Given the description of an element on the screen output the (x, y) to click on. 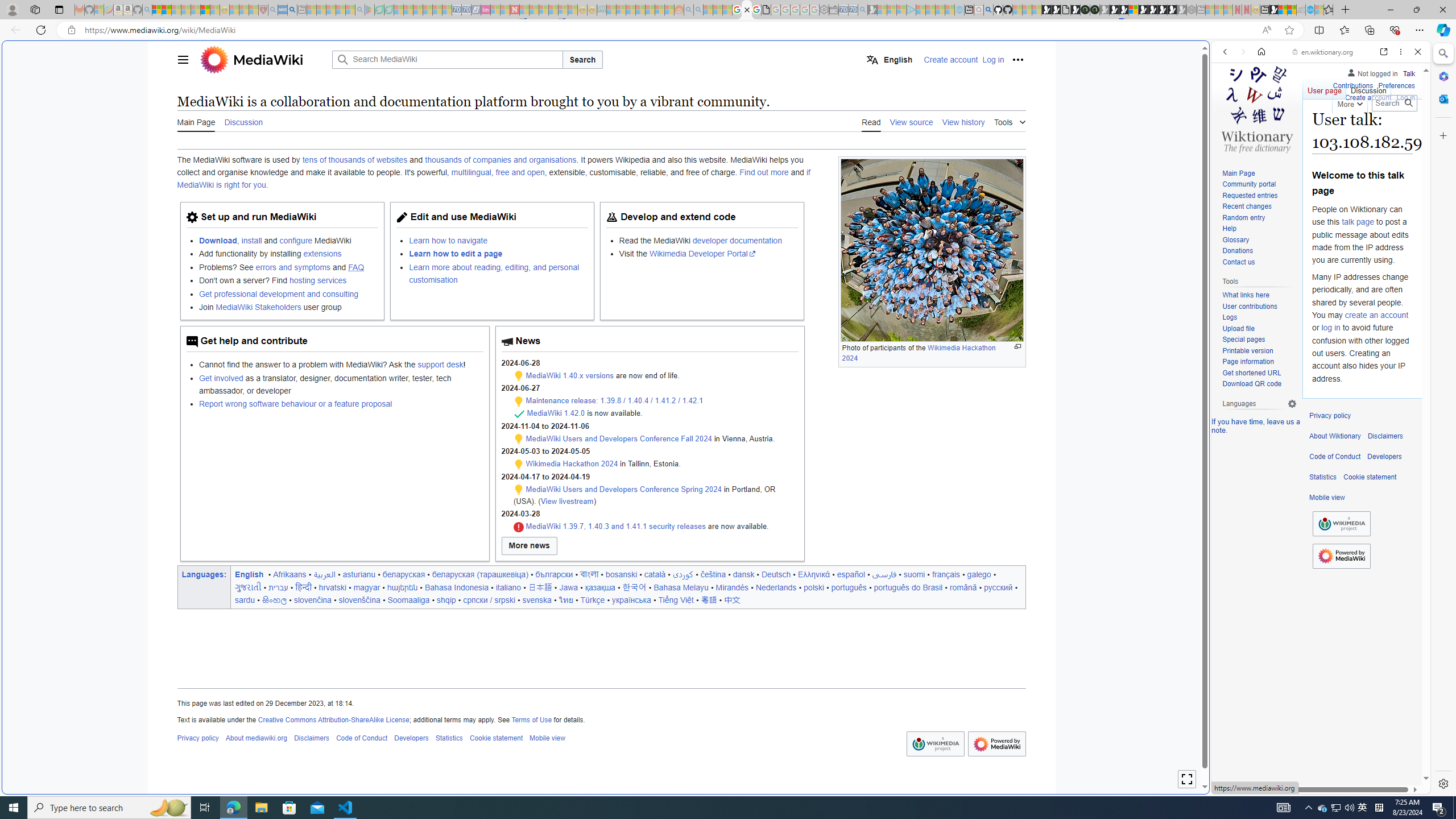
Go (1408, 102)
dansk (743, 574)
Afrikaans (290, 574)
Creative Commons Attribution-ShareAlike License (333, 719)
talk page (1357, 221)
